Given the description of an element on the screen output the (x, y) to click on. 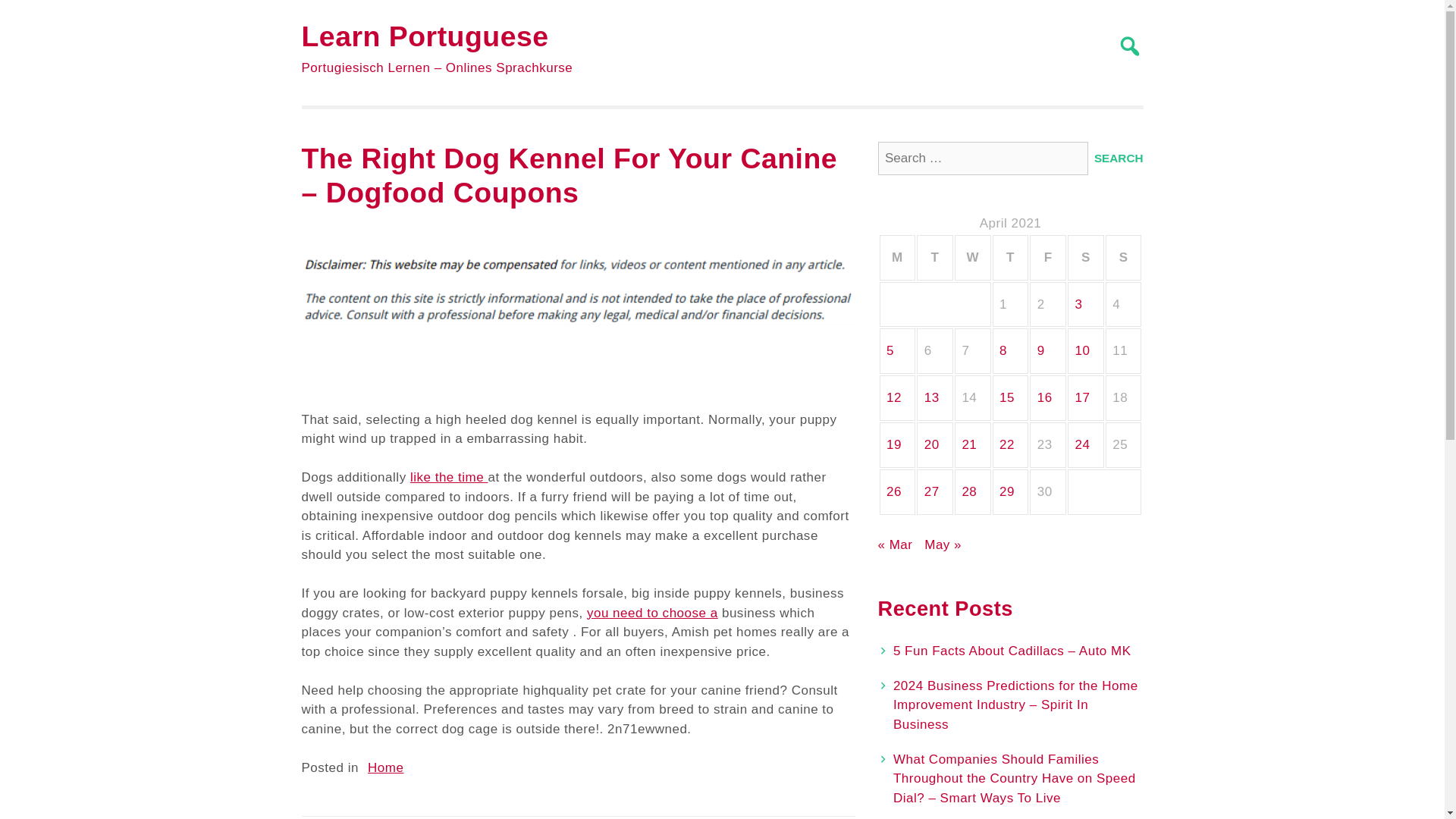
16 (1044, 397)
Learn Portuguese (424, 36)
29 (1006, 491)
12 (893, 397)
24 (1082, 444)
17 (1082, 397)
you need to choose a (651, 612)
13 (931, 397)
10 (1082, 350)
21 (968, 444)
Search (1118, 157)
like the time (448, 477)
20 (931, 444)
Home (385, 767)
27 (931, 491)
